Given the description of an element on the screen output the (x, y) to click on. 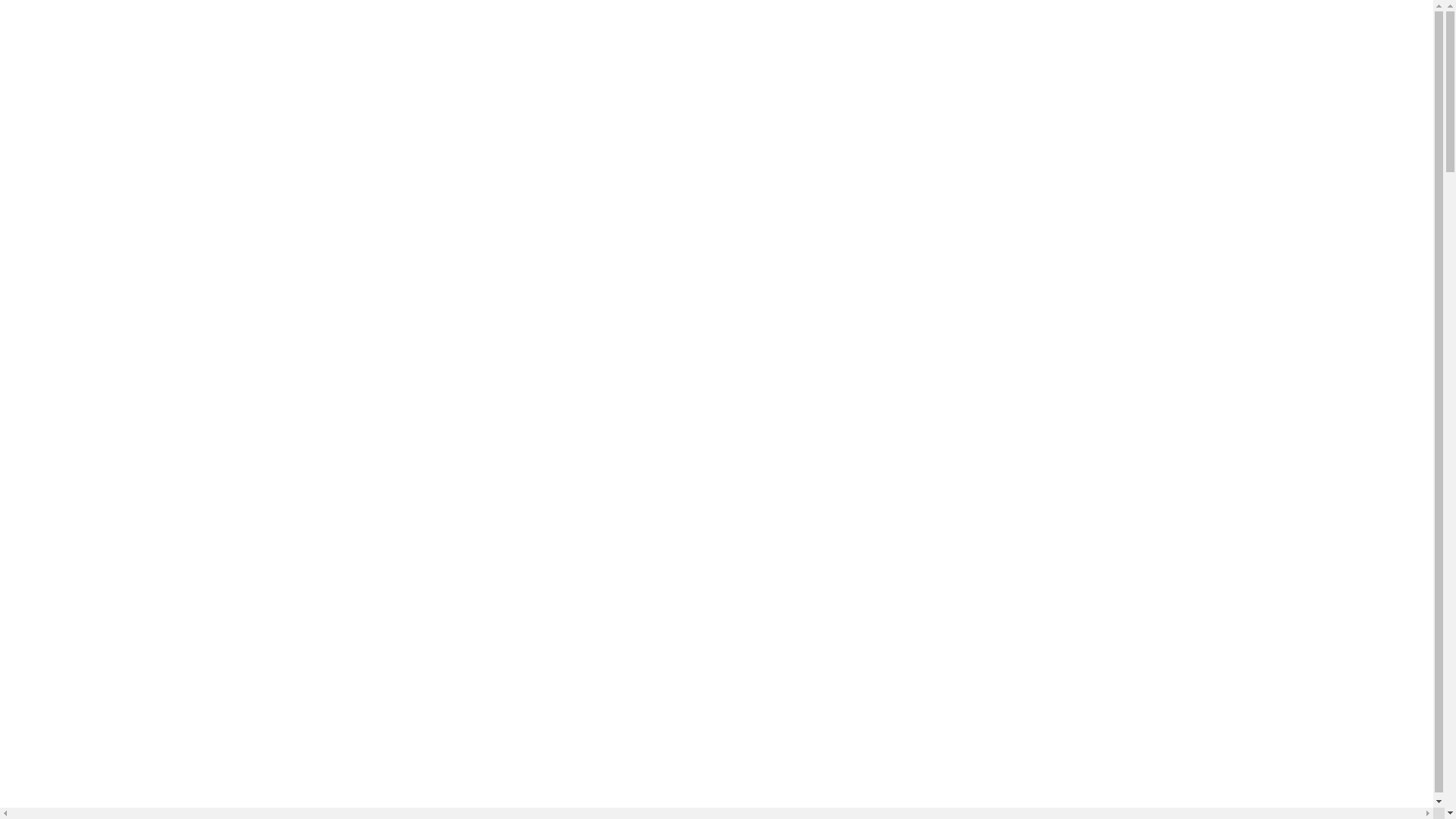
www.18taiqiu.com Element type: text (354, 744)
